Given the description of an element on the screen output the (x, y) to click on. 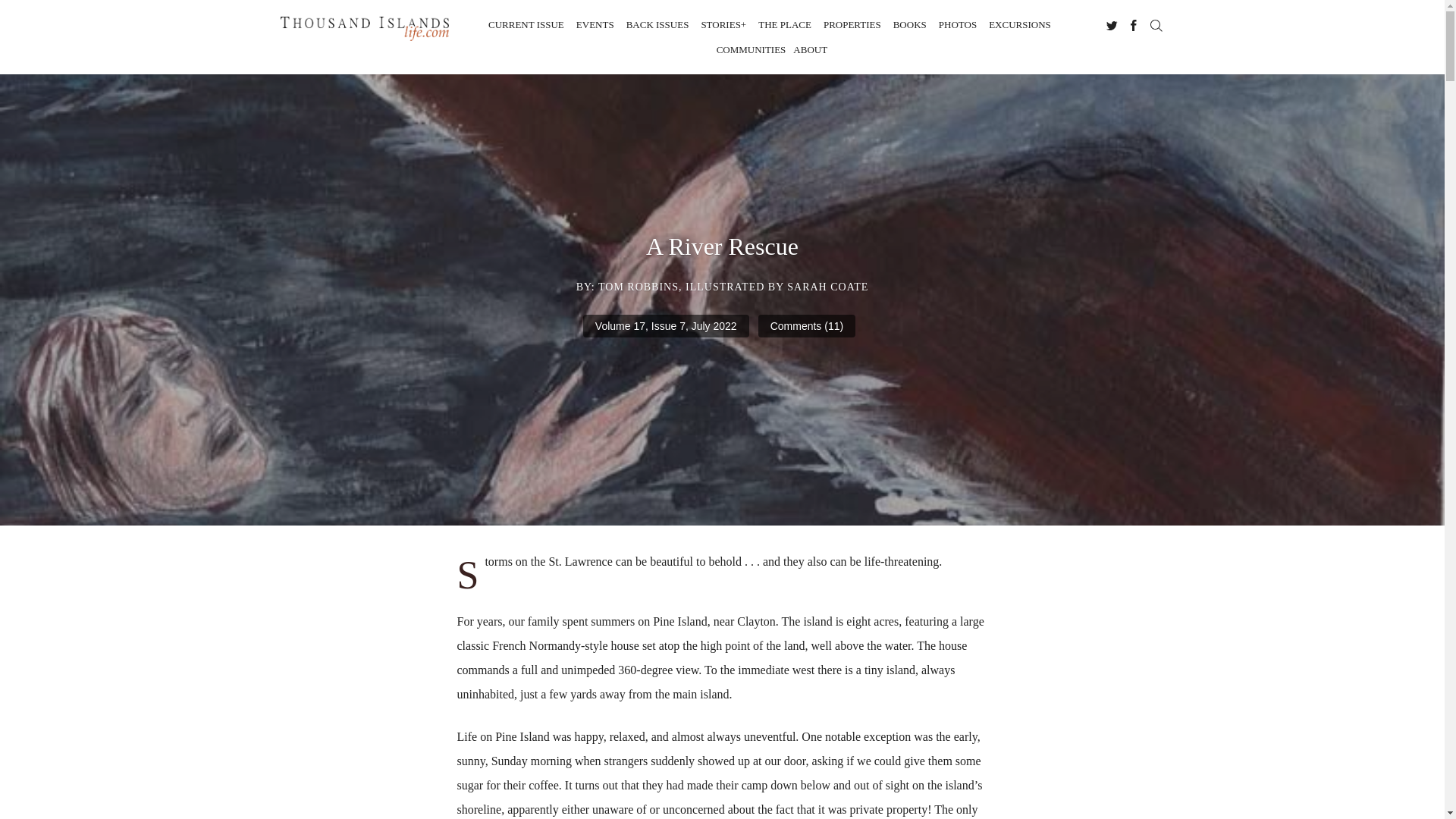
BACK ISSUES (657, 24)
ABOUT (810, 49)
BOOKS (909, 24)
EVENTS (595, 24)
COMMUNITIES (751, 49)
EXCURSIONS (1019, 24)
THE PLACE (784, 24)
Volume 17, Issue 7, July 2022 (666, 325)
PROPERTIES (852, 24)
PHOTOS (957, 24)
